Given the description of an element on the screen output the (x, y) to click on. 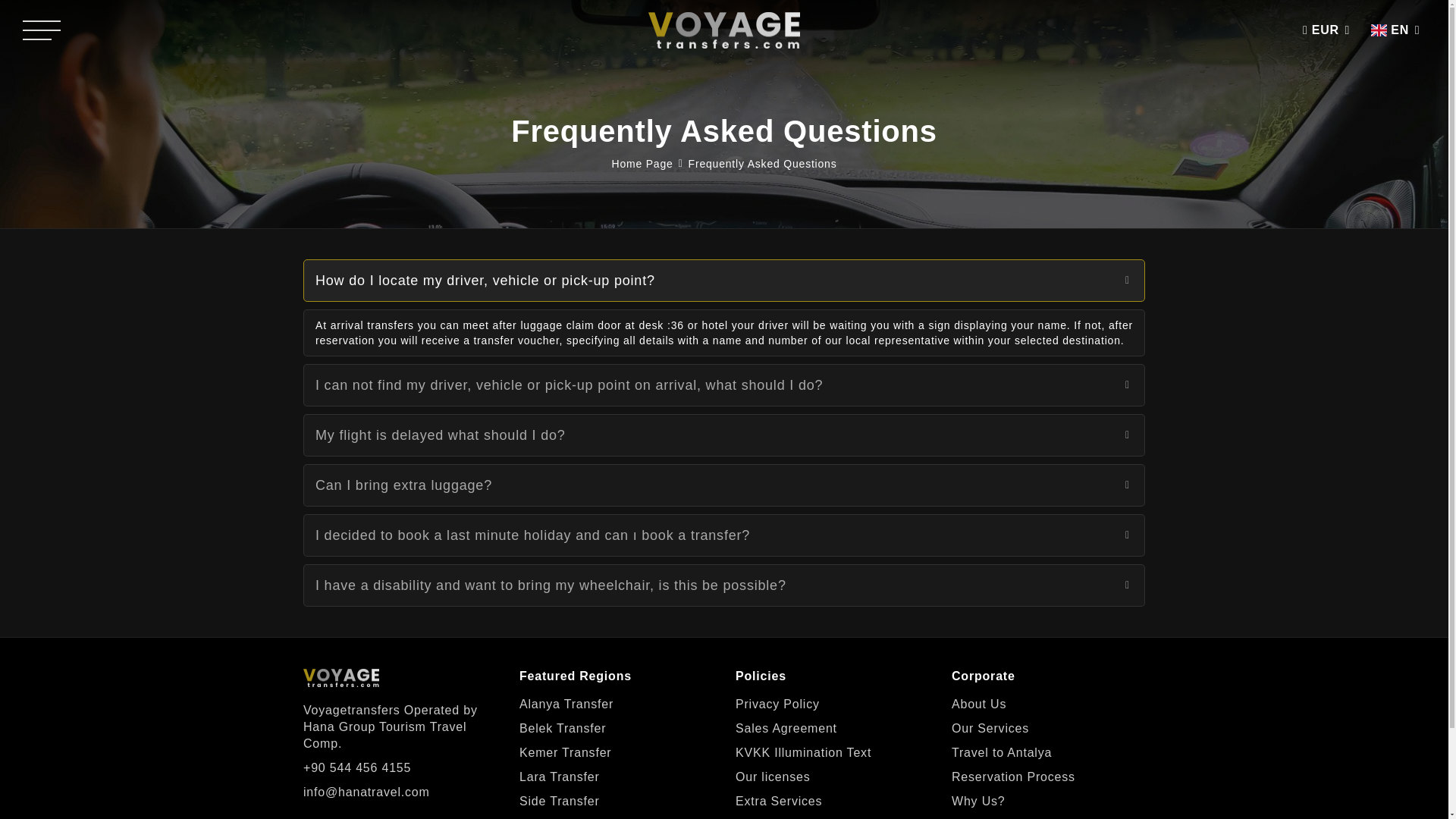
Alanya Transfer (565, 704)
My flight is delayed what should I do? (723, 435)
Home Page (641, 163)
Frequently Asked Questions (762, 163)
EUR (1329, 30)
How do I locate my driver, vehicle or pick-up point? (723, 280)
Belek Transfer (562, 728)
Can I bring extra luggage? (723, 485)
